Given the description of an element on the screen output the (x, y) to click on. 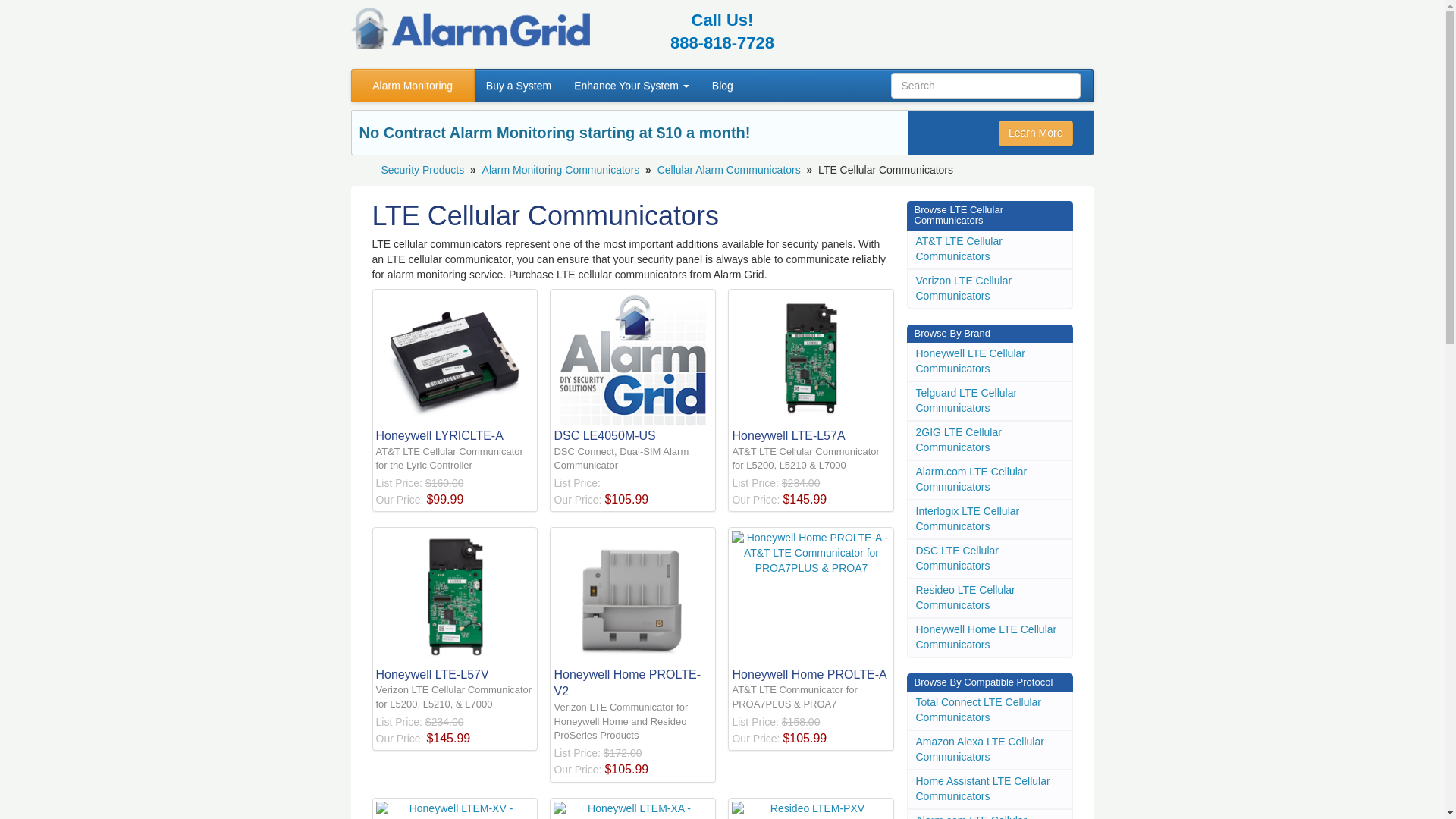
Honeywell Home PROLTE-A (810, 606)
Honeywell LTEM-XA (632, 810)
Alarm Monitoring (413, 85)
Enhance Your System (631, 85)
Honeywell Home PROLTE-V2 (632, 615)
Honeywell LTE-L57A (810, 368)
Honeywell LTEM-XV (454, 810)
Alarm Monitoring Communicators (560, 169)
Buy a System (518, 85)
Cellular Alarm Communicators (729, 169)
888-818-7728 (721, 42)
Security Products (422, 169)
Honeywell LTE-L57V (454, 606)
Blog (722, 85)
Resideo LTEM-PXV (810, 810)
